Given the description of an element on the screen output the (x, y) to click on. 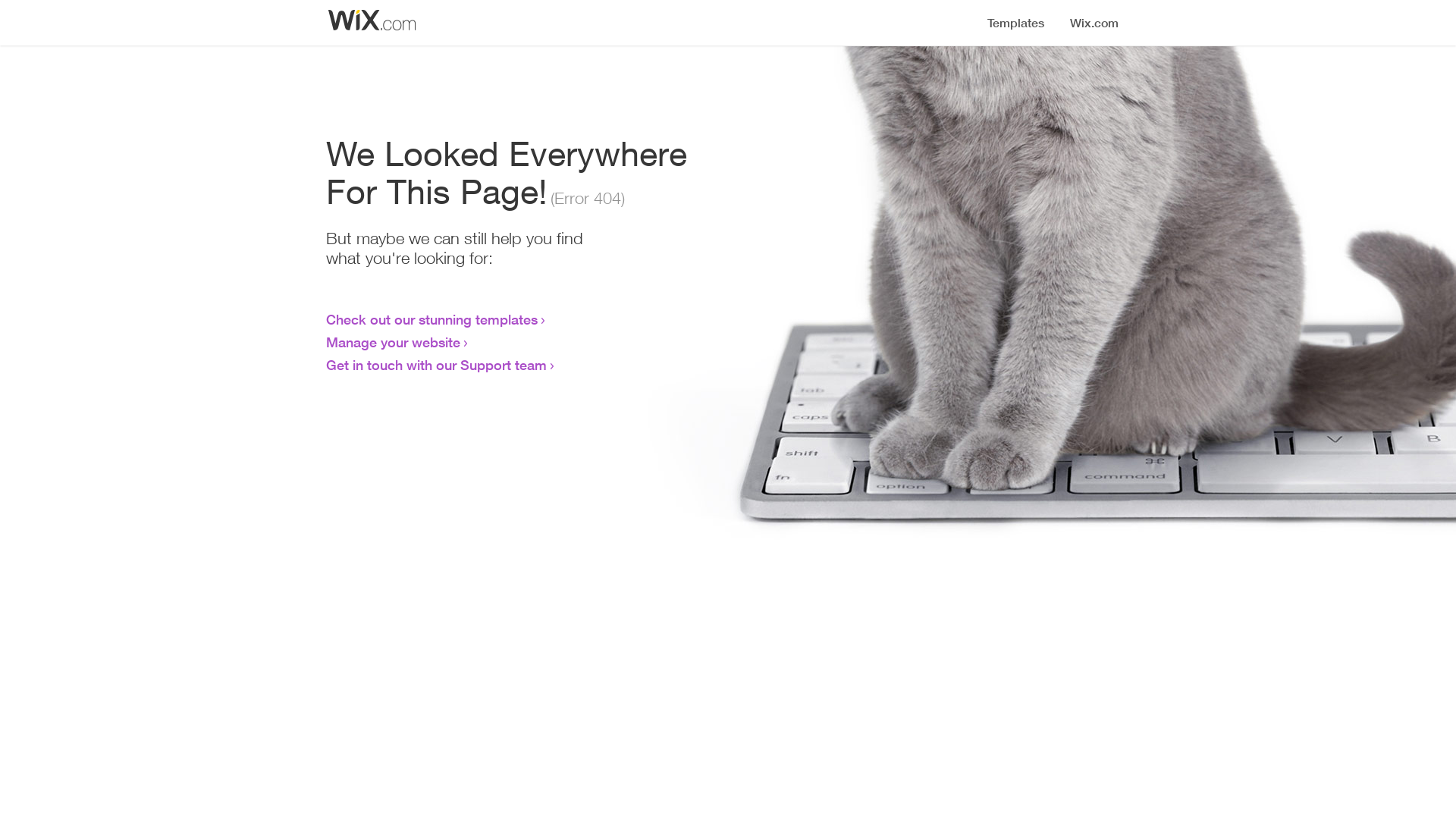
Manage your website Element type: text (393, 341)
Get in touch with our Support team Element type: text (436, 364)
Check out our stunning templates Element type: text (431, 318)
